Given the description of an element on the screen output the (x, y) to click on. 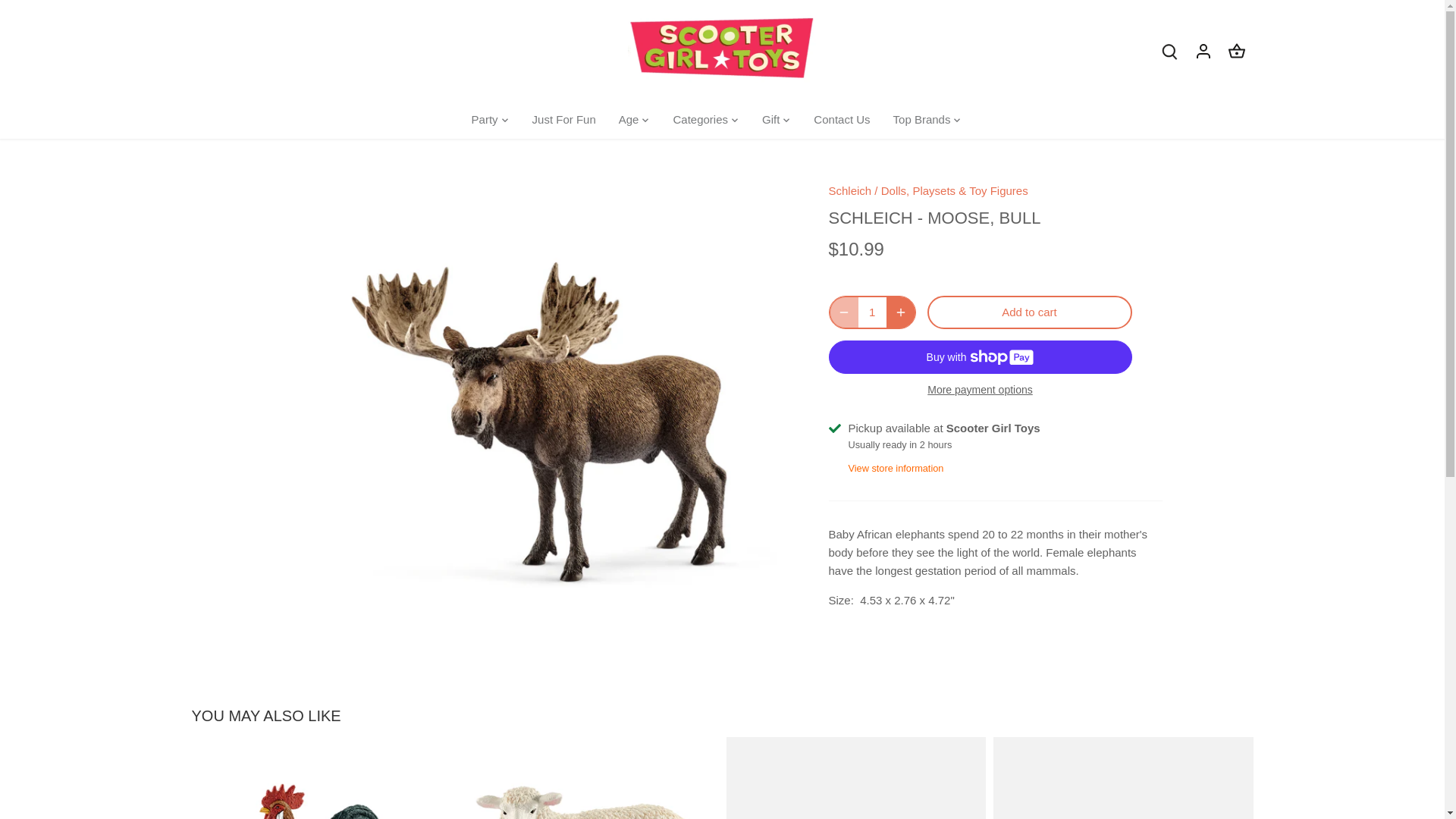
Age (628, 120)
Party (490, 120)
Just For Fun (564, 120)
Categories (700, 120)
Go to cart (1236, 50)
1 (872, 312)
